Given the description of an element on the screen output the (x, y) to click on. 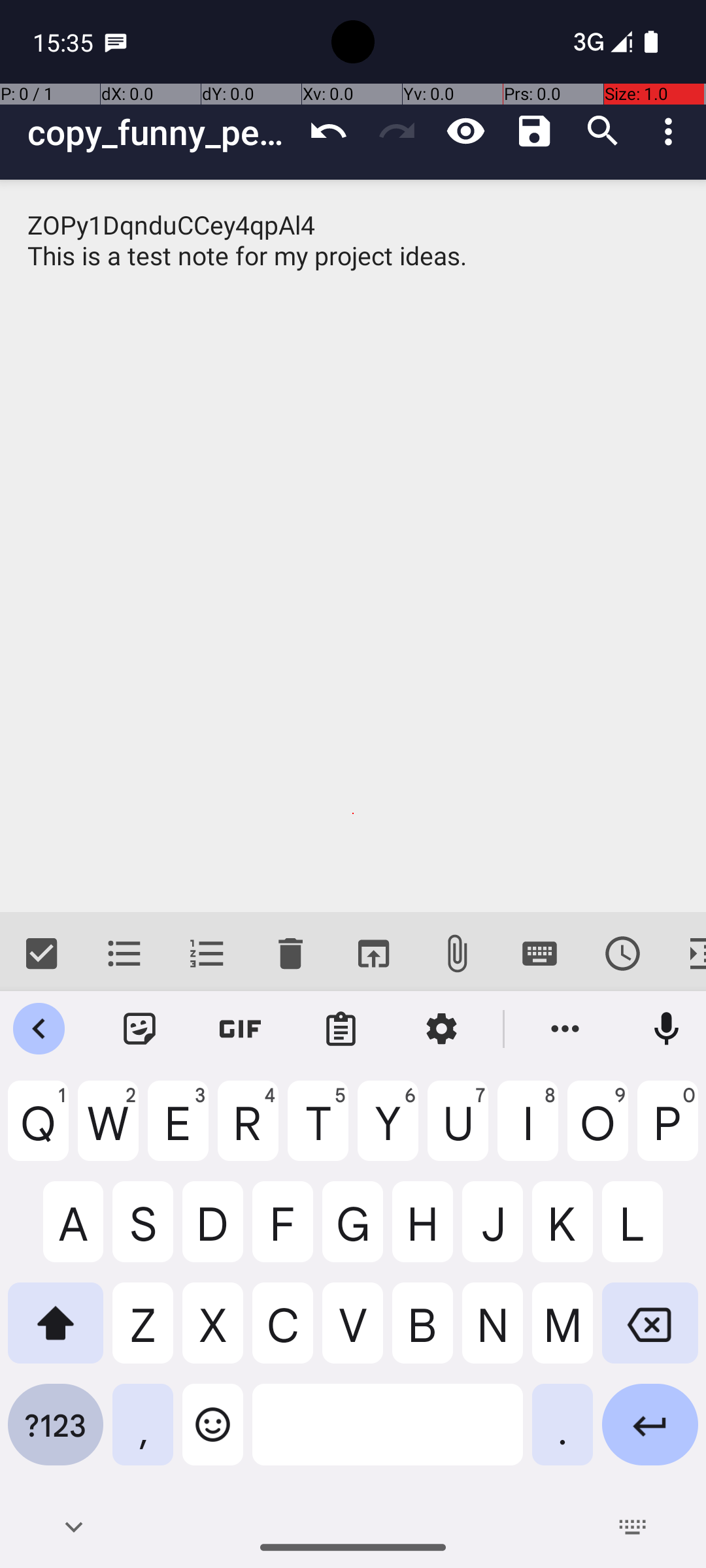
copy_funny_penguin_final Element type: android.widget.TextView (160, 131)
Undo Element type: android.widget.TextView (328, 131)
Redo Element type: android.widget.TextView (396, 131)
View mode Element type: android.widget.TextView (465, 131)
ZOPy1DqnduCCey4qpAl4
This is a test note for my project ideas.
 Element type: android.widget.EditText (353, 545)
Check list Element type: android.widget.ImageView (41, 953)
Unordered list Element type: android.widget.ImageView (124, 953)
Ordered list Element type: android.widget.ImageView (207, 953)
Delete lines Element type: android.widget.ImageView (290, 953)
Open link Element type: android.widget.ImageView (373, 953)
Attach Element type: android.widget.ImageView (456, 953)
Special Key Element type: android.widget.ImageView (539, 953)
Date and time Element type: android.widget.ImageView (622, 953)
Indent Element type: android.widget.ImageView (685, 953)
Q Element type: android.widget.FrameLayout (38, 1130)
E Element type: android.widget.FrameLayout (178, 1130)
R Element type: android.widget.FrameLayout (248, 1130)
Y Element type: android.widget.FrameLayout (387, 1130)
U Element type: android.widget.FrameLayout (457, 1130)
I Element type: android.widget.FrameLayout (527, 1130)
O Element type: android.widget.FrameLayout (597, 1130)
P Element type: android.widget.FrameLayout (667, 1130)
A Element type: android.widget.FrameLayout (55, 1231)
D Element type: android.widget.FrameLayout (212, 1231)
G Element type: android.widget.FrameLayout (352, 1231)
H Element type: android.widget.FrameLayout (422, 1231)
J Element type: android.widget.FrameLayout (492, 1231)
K Element type: android.widget.FrameLayout (562, 1231)
L Element type: android.widget.FrameLayout (649, 1231)
Z Element type: android.widget.FrameLayout (142, 1332)
X Element type: android.widget.FrameLayout (212, 1332)
C Element type: android.widget.FrameLayout (282, 1332)
V Element type: android.widget.FrameLayout (352, 1332)
B Element type: android.widget.FrameLayout (422, 1332)
N Element type: android.widget.FrameLayout (492, 1332)
